Given the description of an element on the screen output the (x, y) to click on. 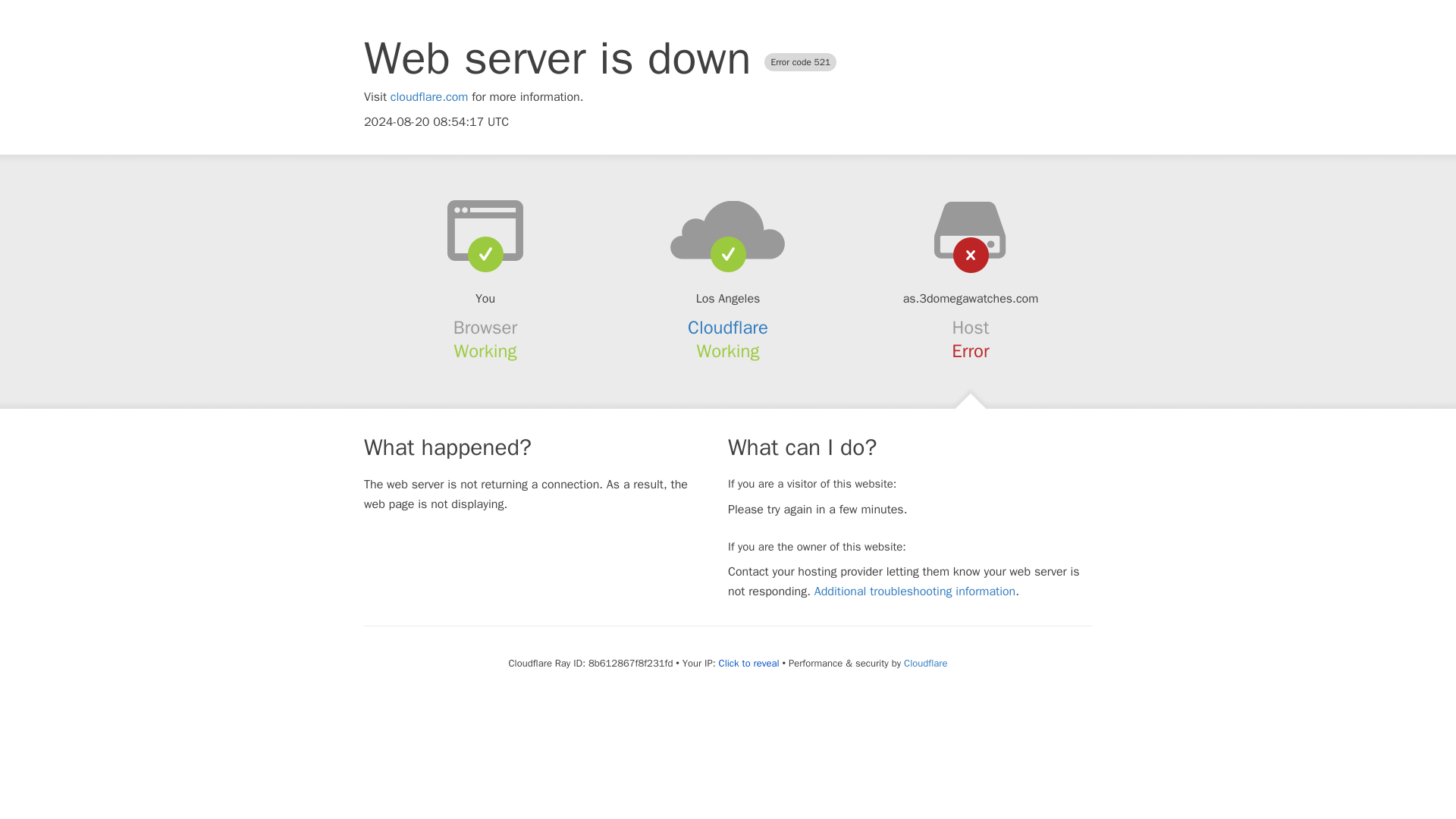
Cloudflare (925, 662)
Additional troubleshooting information (913, 590)
cloudflare.com (429, 96)
Cloudflare (727, 327)
Click to reveal (748, 663)
